Given the description of an element on the screen output the (x, y) to click on. 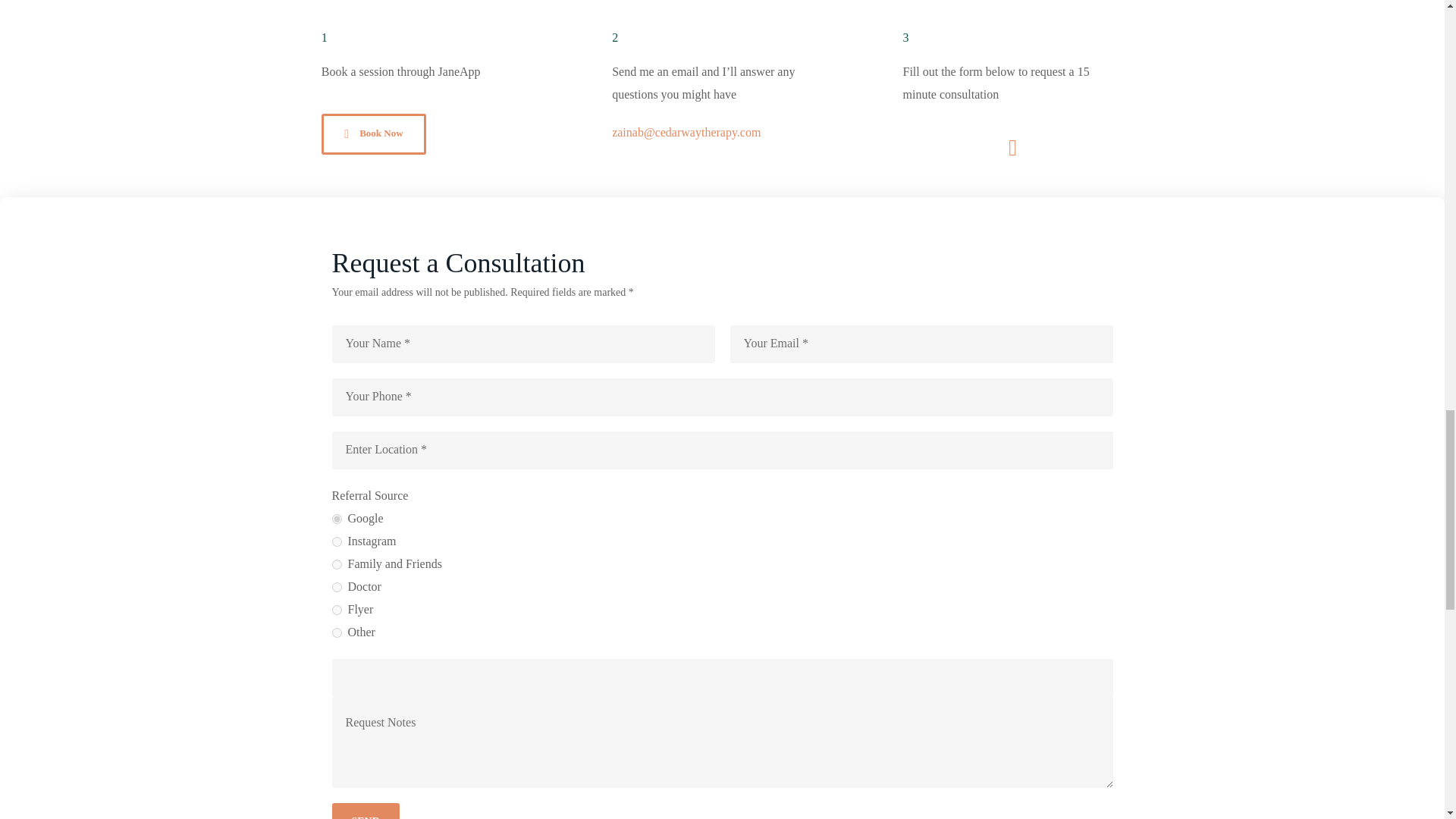
Flyer (336, 610)
Send (364, 811)
Google (336, 519)
Instagram (336, 542)
Doctor (336, 587)
Family and Friends (336, 564)
Other (336, 633)
